Given the description of an element on the screen output the (x, y) to click on. 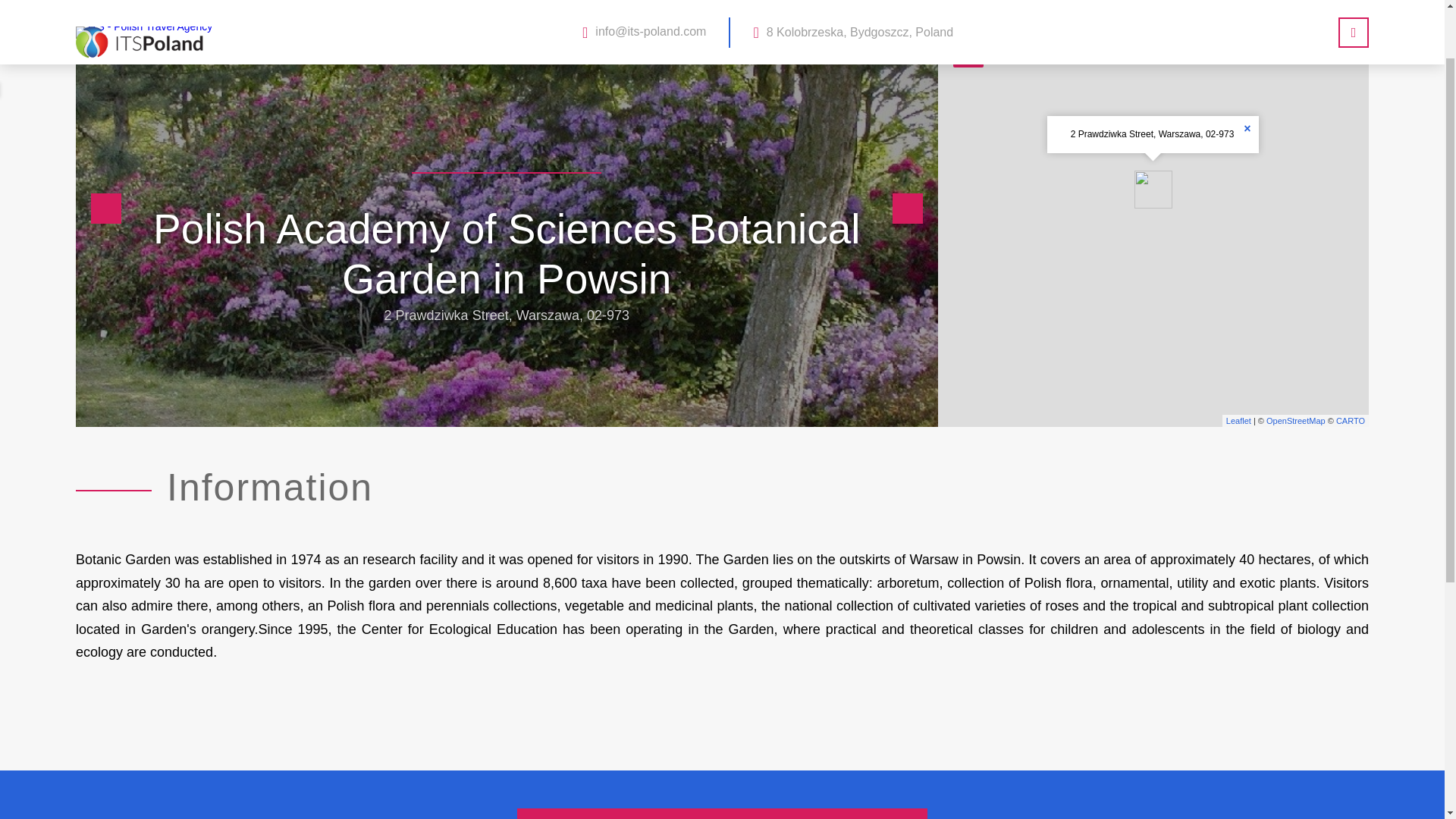
Zoom in (968, 20)
Zoom out (968, 51)
A JS library for interactive maps (1237, 420)
Previous (105, 208)
